Given the description of an element on the screen output the (x, y) to click on. 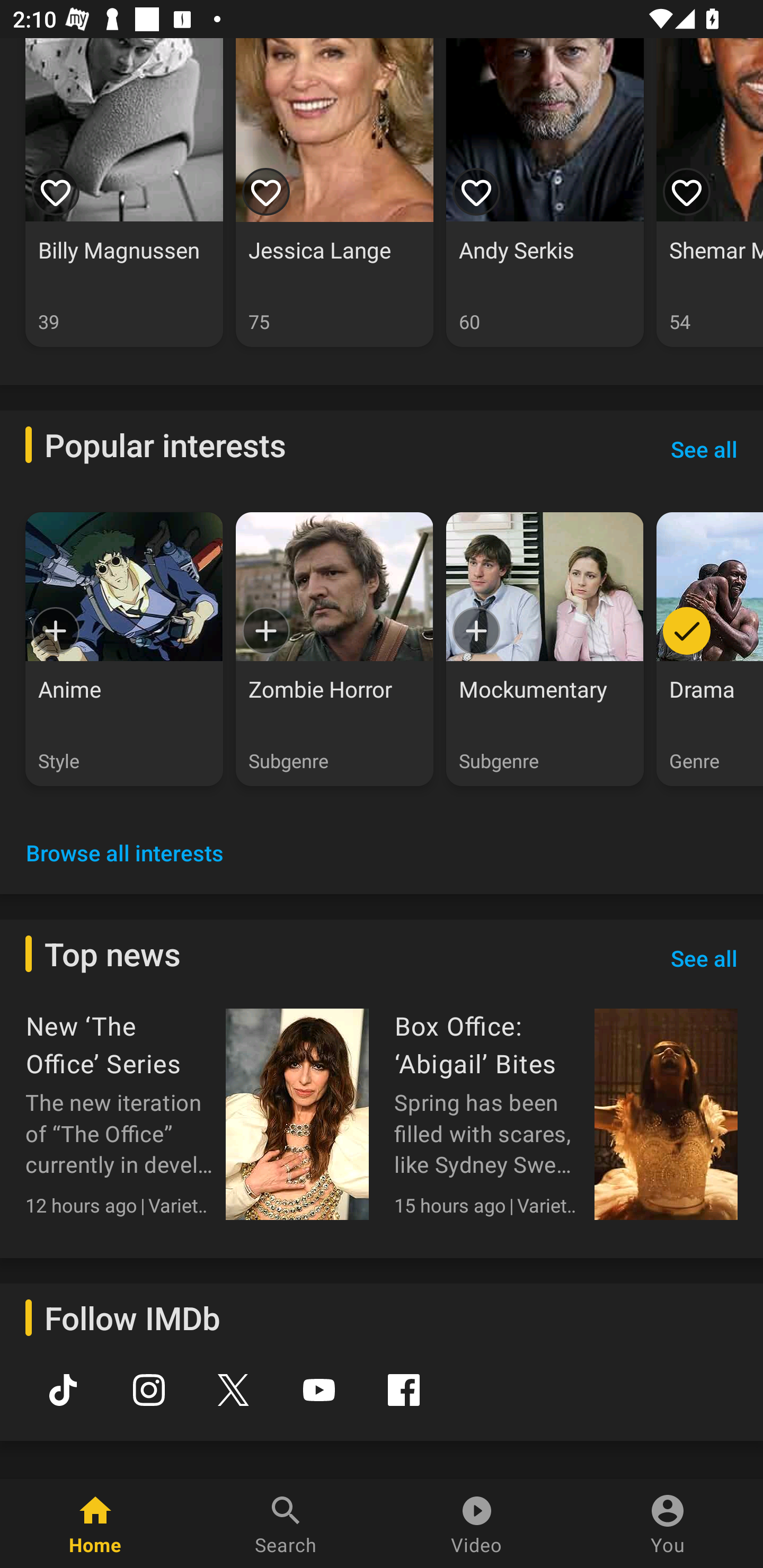
Billy Magnussen 39 (123, 191)
Jessica Lange 75 (334, 191)
Andy Serkis 60 (544, 191)
See all See all Popular interests (703, 448)
Anime Style (123, 648)
Zombie Horror Subgenre (334, 648)
Mockumentary Subgenre (544, 648)
Drama Genre (709, 648)
Browse all interests (124, 852)
See all See all Top news (703, 957)
Search (285, 1523)
Video (476, 1523)
You (667, 1523)
